Given the description of an element on the screen output the (x, y) to click on. 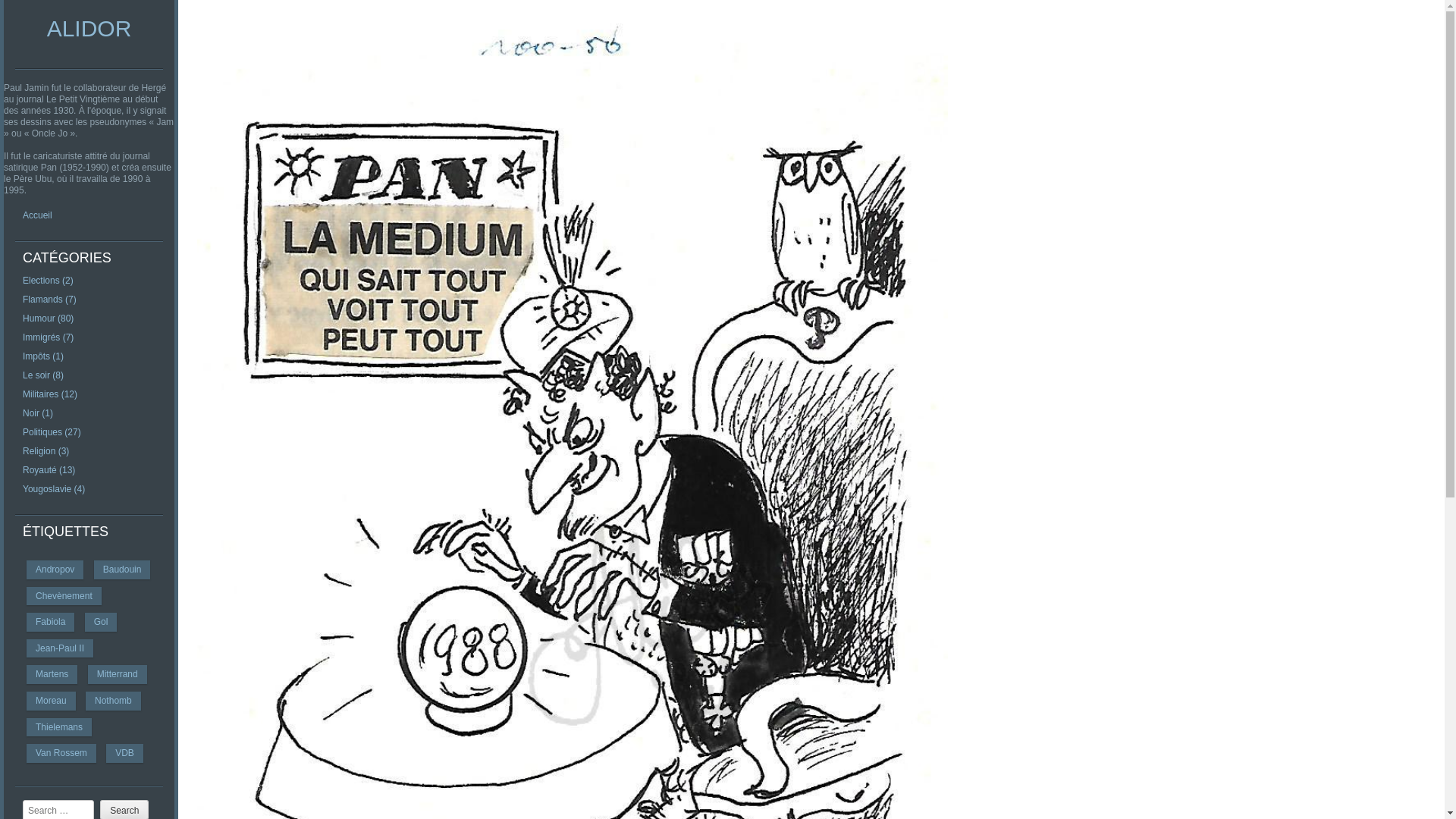
Andropov Element type: text (54, 569)
Noir (1) Element type: text (37, 412)
Van Rossem Element type: text (61, 752)
Mitterrand Element type: text (117, 674)
Moreau Element type: text (50, 700)
Nothomb Element type: text (113, 700)
Martens Element type: text (51, 674)
Baudouin Element type: text (122, 569)
Le soir (8) Element type: text (42, 375)
Politiques (27) Element type: text (51, 431)
VDB Element type: text (124, 752)
Thielemans Element type: text (58, 727)
ALIDOR Element type: text (89, 27)
Jean-Paul II Element type: text (59, 648)
Religion (3) Element type: text (45, 450)
Accueil Element type: text (37, 215)
Yougoslavie (4) Element type: text (53, 488)
Flamands (7) Element type: text (49, 299)
Elections (2) Element type: text (47, 280)
Fabiola Element type: text (50, 621)
Gol Element type: text (100, 621)
Humour (80) Element type: text (47, 318)
Militaires (12) Element type: text (49, 394)
